Given the description of an element on the screen output the (x, y) to click on. 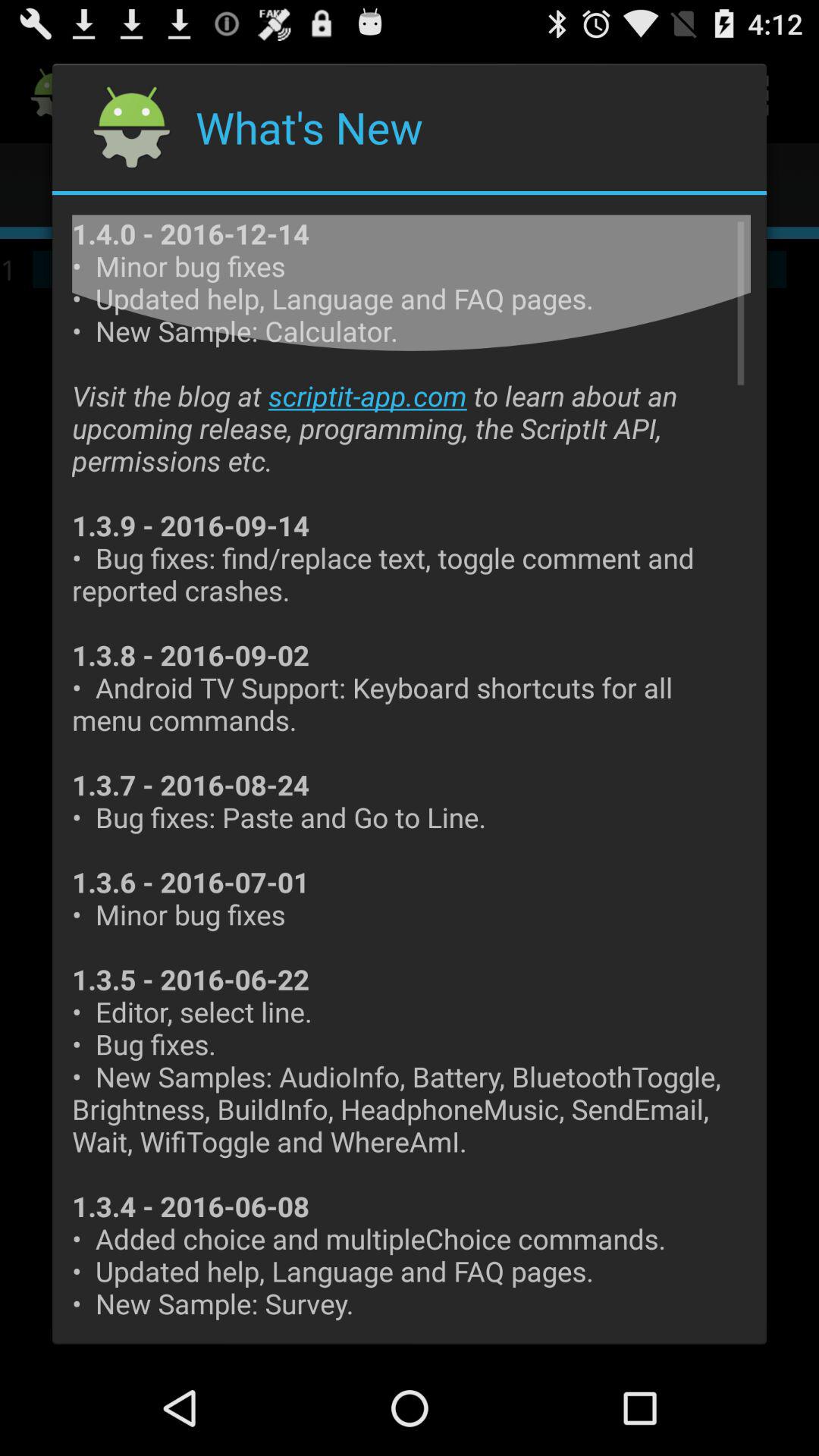
scroll to the 1 4 0 (411, 769)
